Given the description of an element on the screen output the (x, y) to click on. 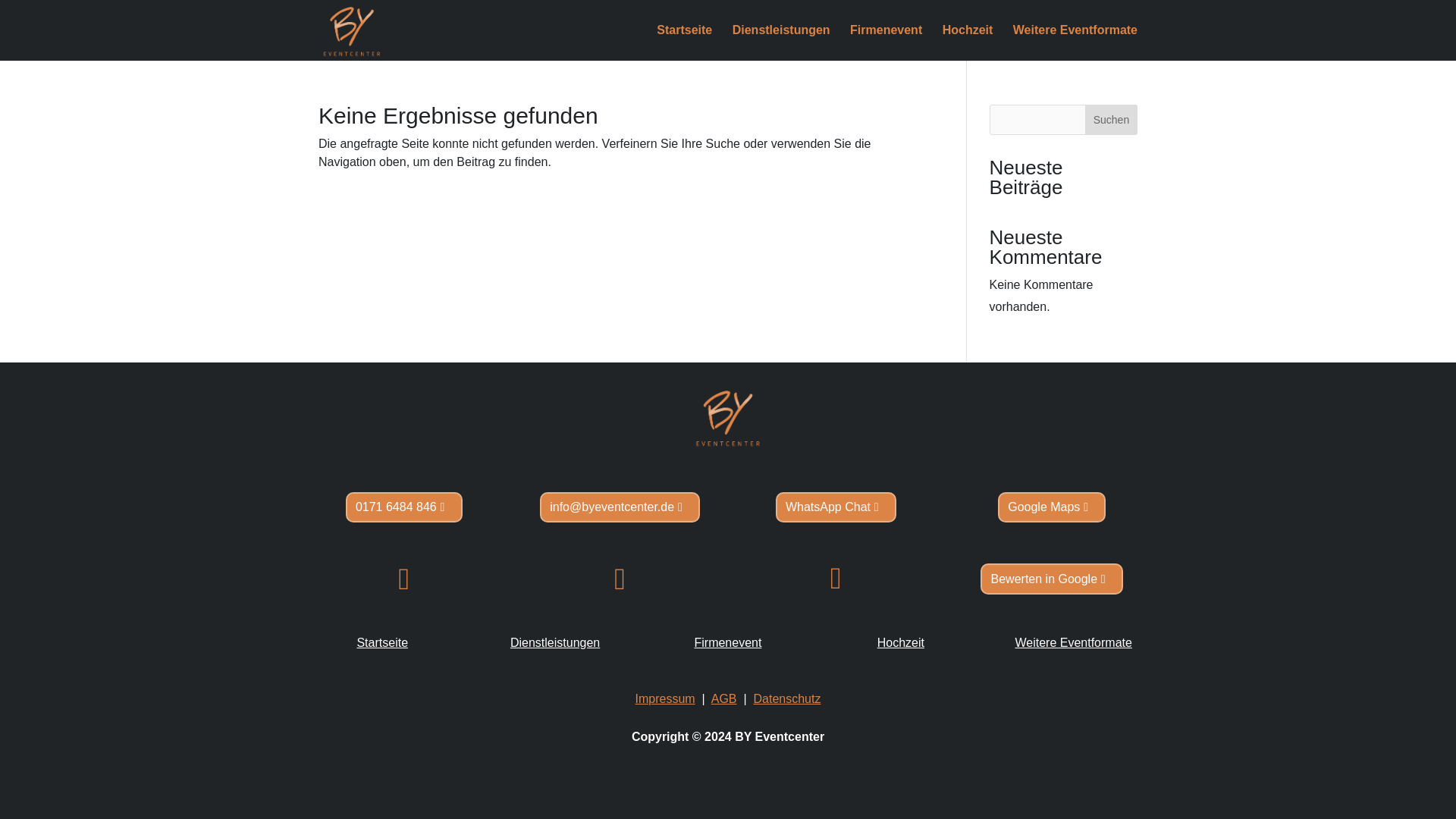
Bewerten in Google (1050, 578)
BY Eventcenter Logo (727, 417)
Datenschutz (786, 698)
WhatsApp Chat (836, 507)
AGB (723, 698)
Weitere Eventformate (1075, 42)
Google Maps (1051, 507)
Hochzeit (967, 42)
impressum (664, 698)
Impressum (664, 698)
agb (723, 698)
datenschutz (786, 698)
0171 6484 846 (404, 507)
Firmenevent (885, 42)
Startseite (683, 42)
